Given the description of an element on the screen output the (x, y) to click on. 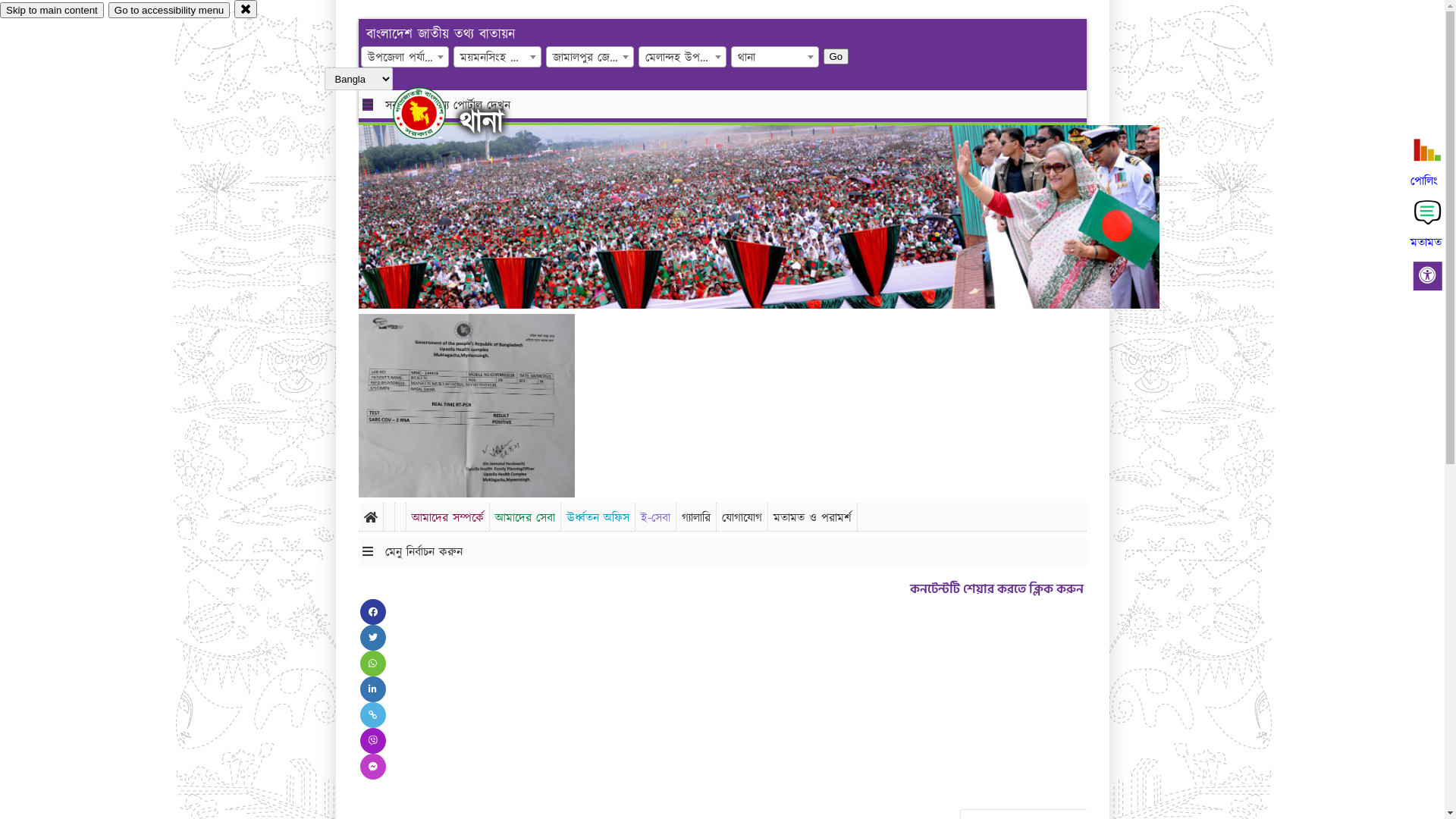
Skip to main content Element type: text (51, 10)
close Element type: hover (245, 9)

                
             Element type: hover (431, 112)
Go to accessibility menu Element type: text (168, 10)
Go Element type: text (836, 56)
